Given the description of an element on the screen output the (x, y) to click on. 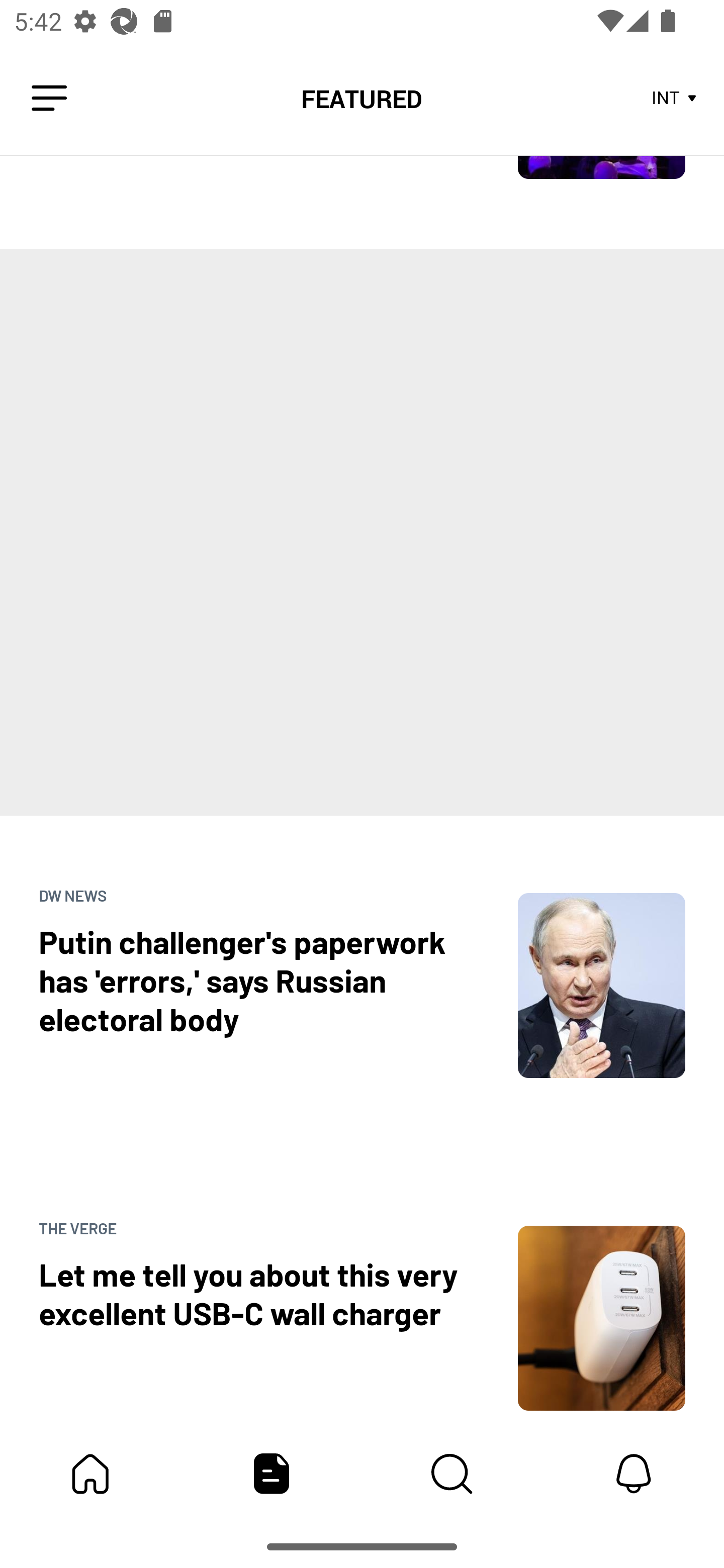
INT Store Area (674, 98)
Leading Icon (49, 98)
My Bundle (90, 1473)
Content Store (452, 1473)
Notifications (633, 1473)
